Given the description of an element on the screen output the (x, y) to click on. 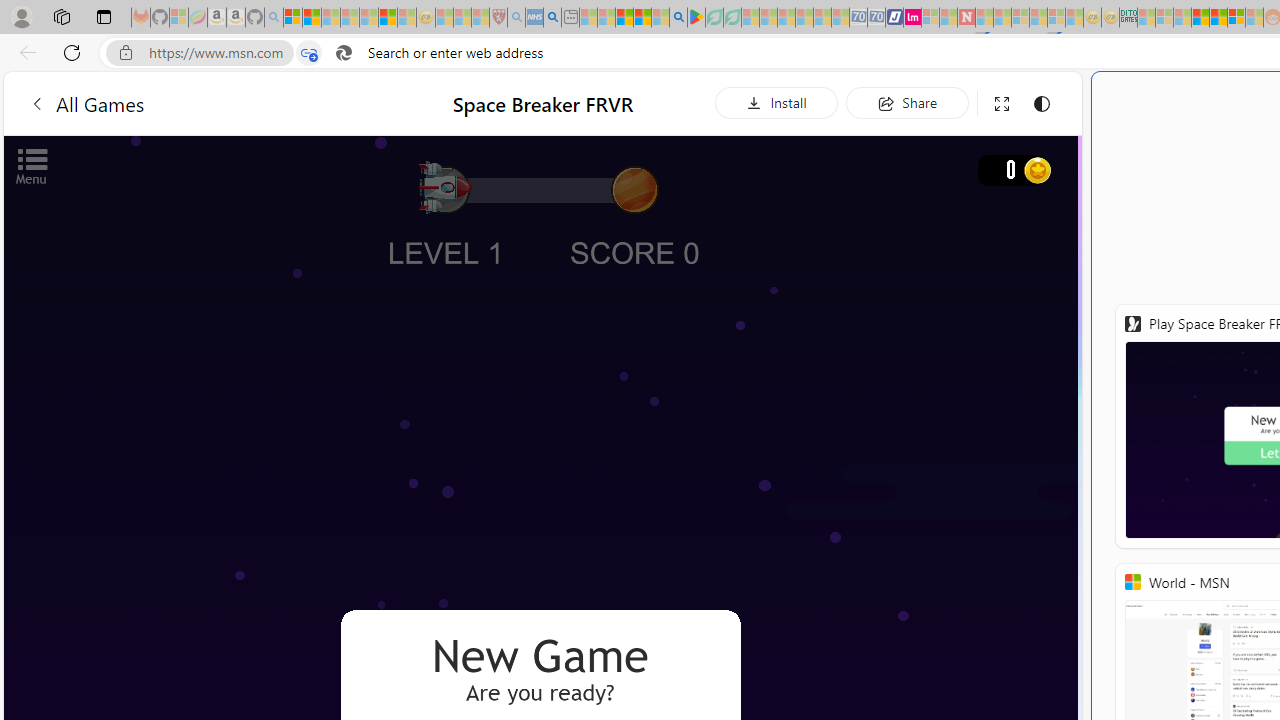
Pets - MSN (642, 17)
Bluey: Let's Play! - Apps on Google Play (696, 17)
All Games (200, 102)
